Given the description of an element on the screen output the (x, y) to click on. 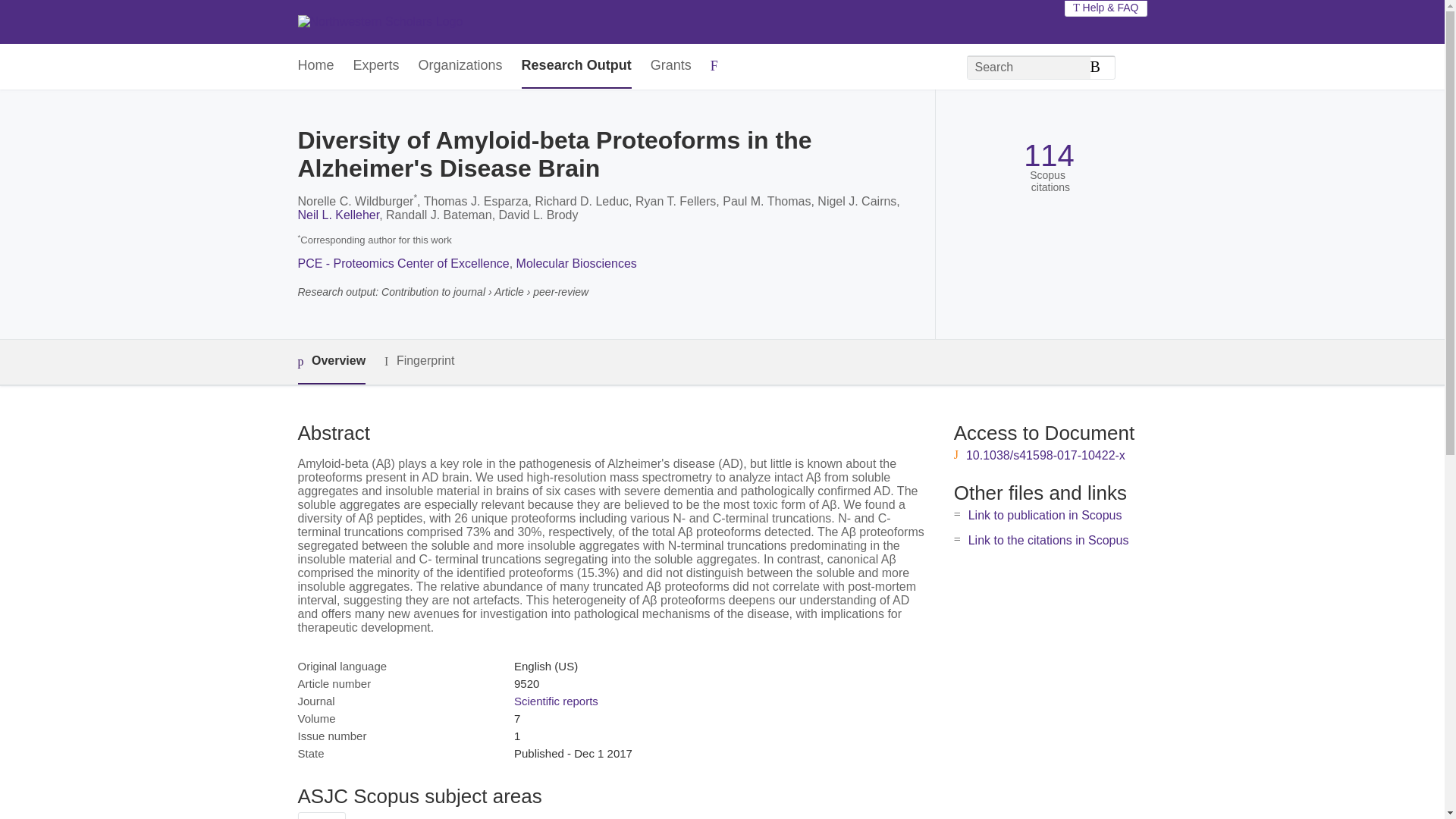
Scientific reports (555, 700)
Molecular Biosciences (576, 263)
114 (1048, 155)
Research Output (576, 66)
Grants (670, 66)
Organizations (460, 66)
Link to publication in Scopus (1045, 514)
Link to the citations in Scopus (1048, 540)
PCE - Proteomics Center of Excellence (402, 263)
